Given the description of an element on the screen output the (x, y) to click on. 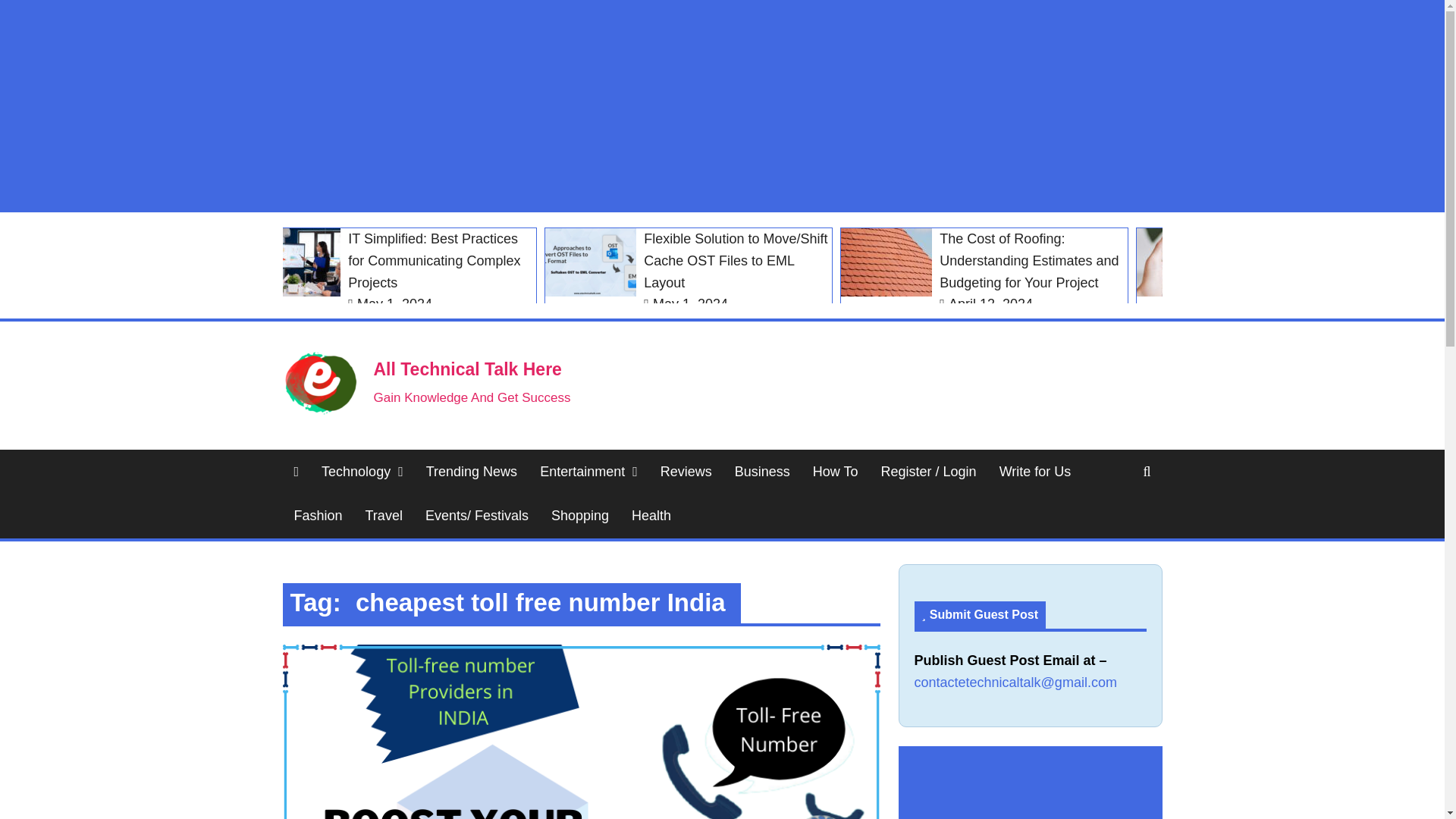
Entertainment (588, 471)
All Technical Talk Here (466, 369)
Reviews (686, 471)
Trending News (471, 471)
Instagram Reels Mastery: 5 Strategies to Hit Enormous Views (1280, 271)
Technology (362, 471)
